Given the description of an element on the screen output the (x, y) to click on. 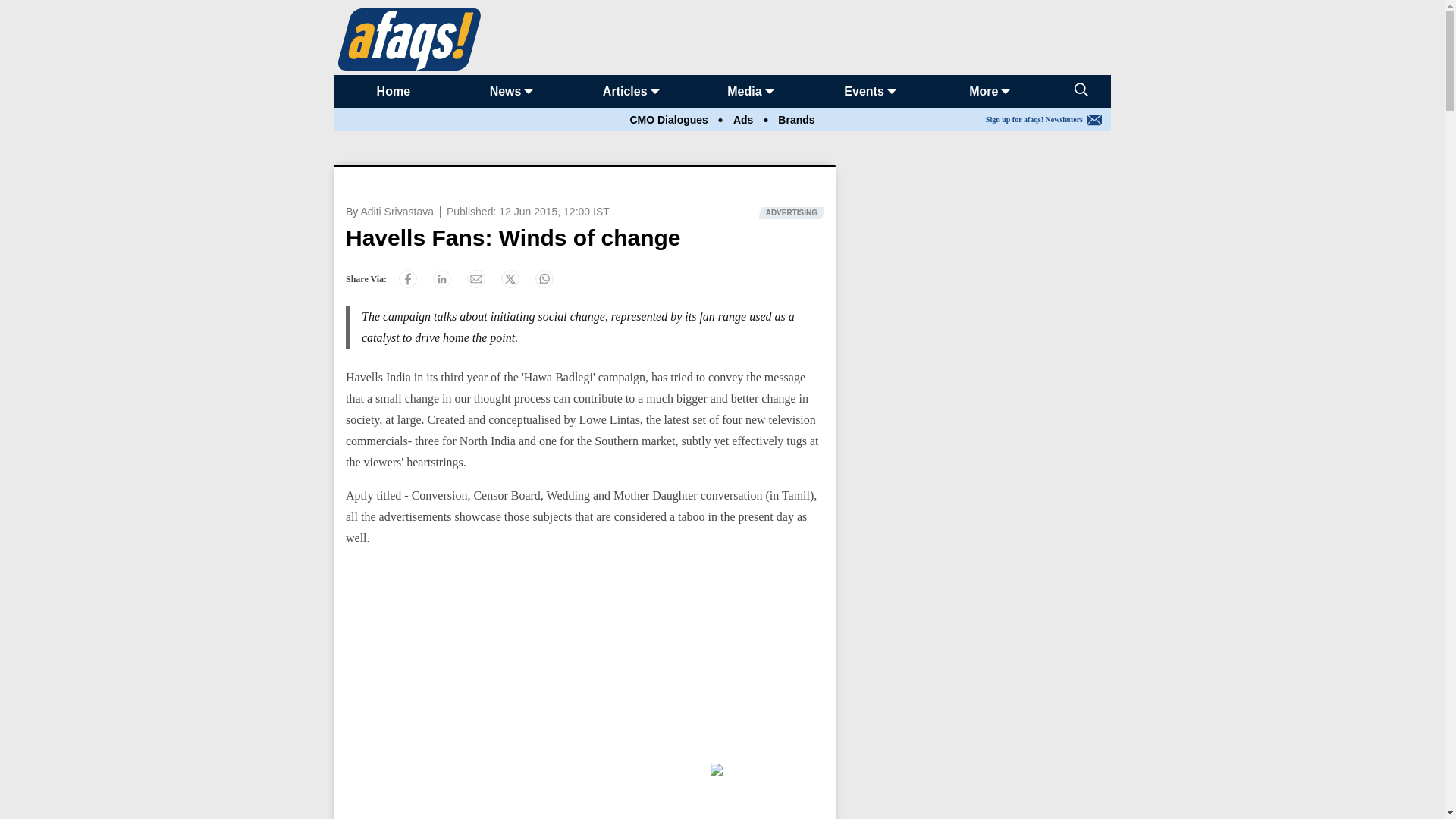
Articles (624, 91)
Home (393, 91)
Media (743, 91)
News (505, 91)
Events (863, 91)
